Given the description of an element on the screen output the (x, y) to click on. 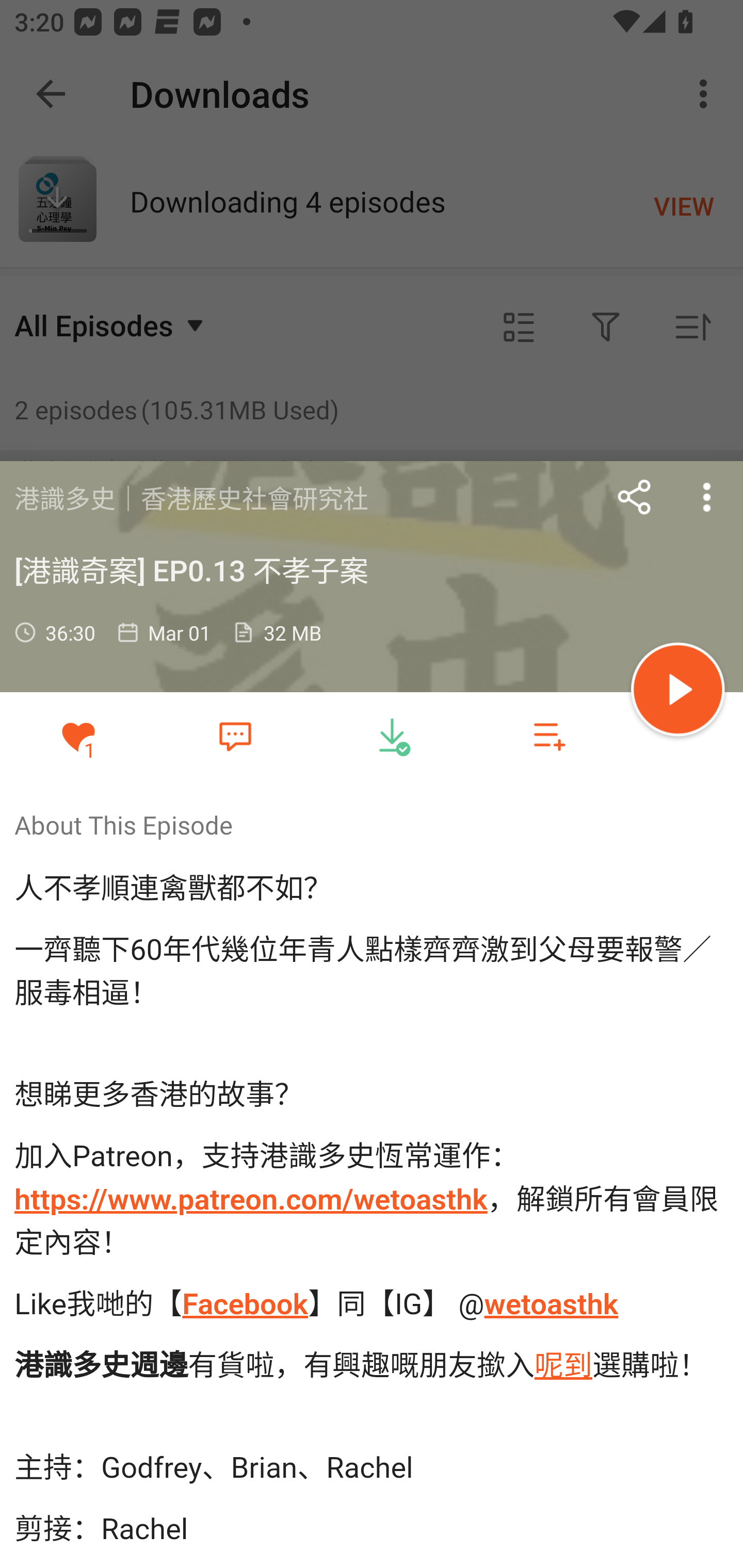
Share (634, 496)
more options (706, 496)
Play (677, 692)
Favorite (234, 735)
Remove from Favorites (78, 735)
Downloaded (391, 735)
Add to playlist (548, 735)
https://www.patreon.com/wetoasthk (250, 1199)
⁠⁠⁠⁠Facebook⁠⁠⁠⁠ (244, 1303)
⁠⁠⁠⁠wetoasthk⁠⁠⁠⁠ (550, 1303)
⁠⁠⁠⁠呢到⁠⁠⁠⁠ (563, 1364)
